Given the description of an element on the screen output the (x, y) to click on. 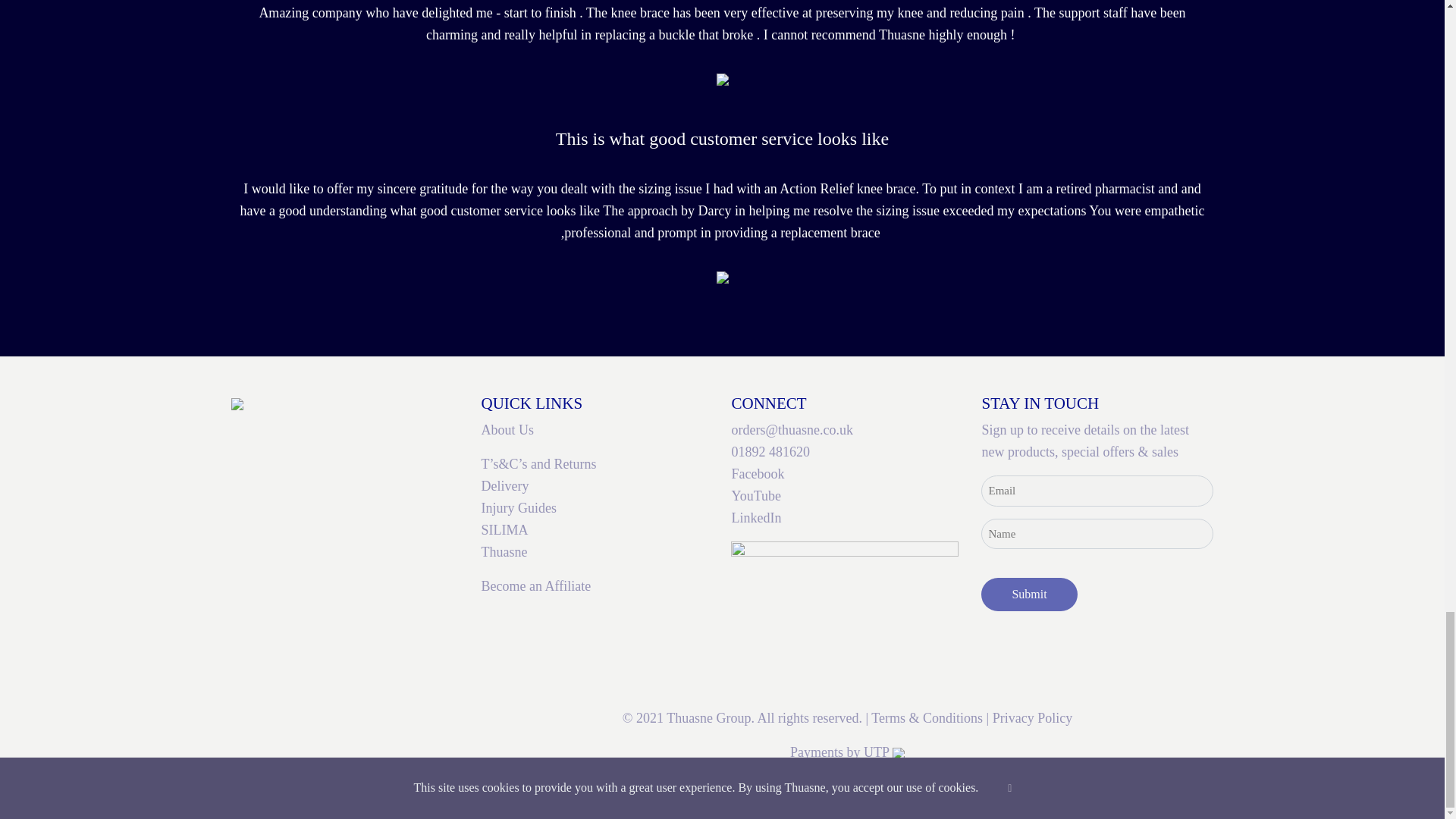
Submit (1029, 594)
